Given the description of an element on the screen output the (x, y) to click on. 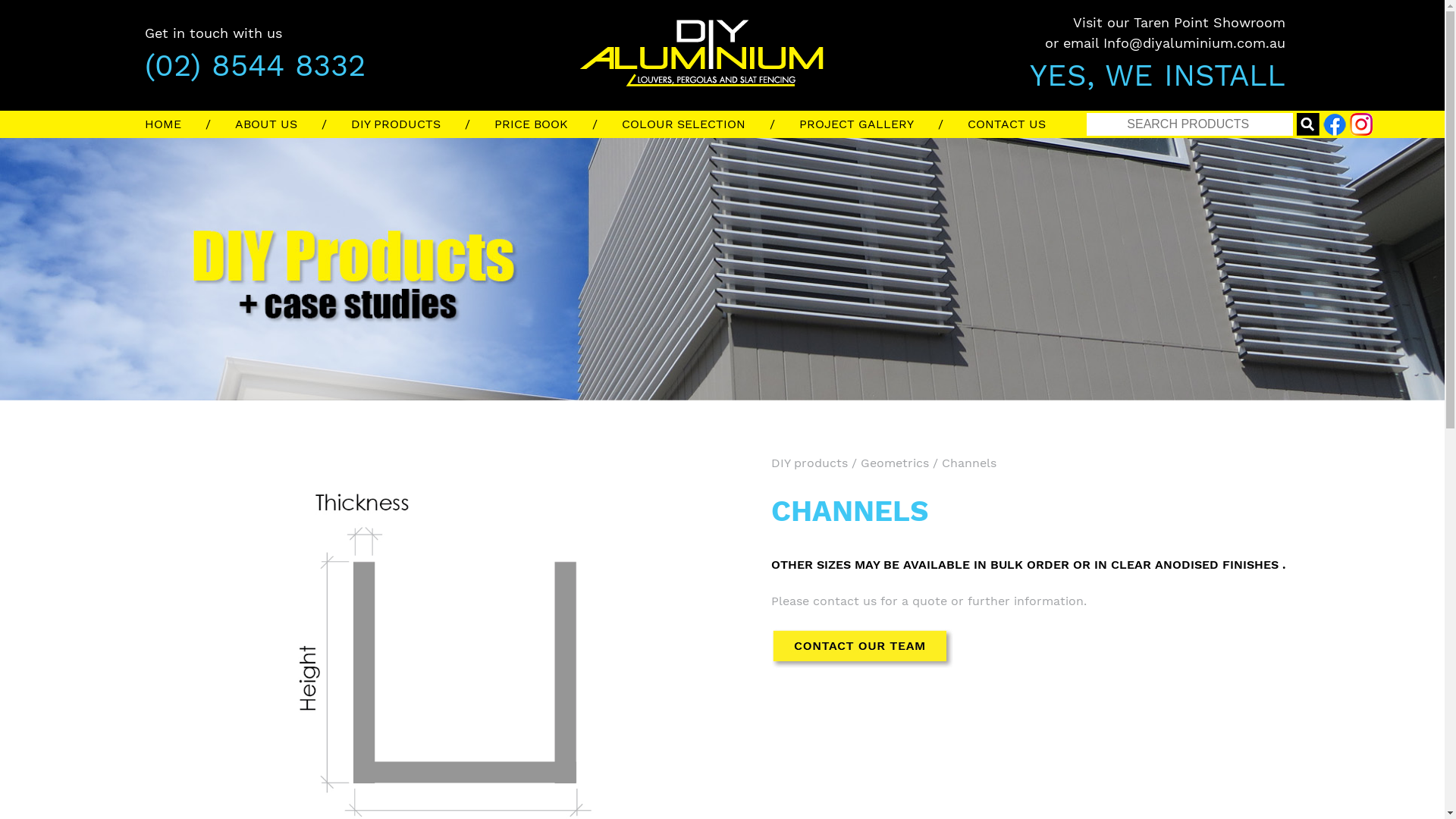
Search Element type: hover (1189, 123)
DIY Aluminium Element type: text (940, 32)
HOME Element type: text (189, 124)
CONTACT US Element type: text (1018, 124)
DIY PRODUCTS Element type: text (421, 124)
DIY products Element type: text (808, 462)
COLOUR SELECTION Element type: text (710, 124)
Search Element type: text (1307, 123)
PRICE BOOK Element type: text (557, 124)
ABOUT US Element type: text (293, 124)
Geometrics Element type: text (893, 462)
PROJECT GALLERY Element type: text (883, 124)
